Given the description of an element on the screen output the (x, y) to click on. 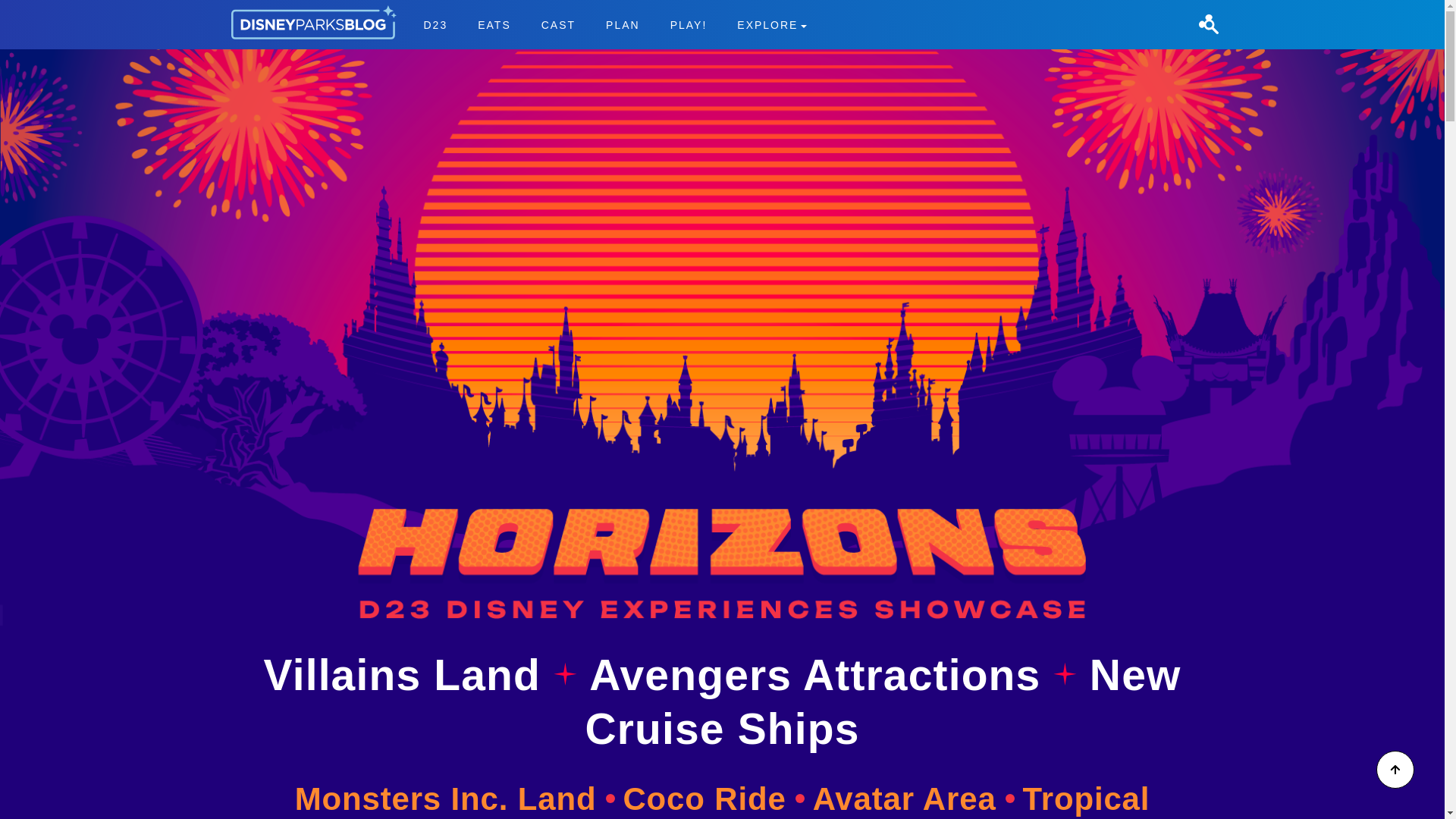
EXPLORE (771, 23)
Tropical Americas (834, 800)
PLAY! (688, 23)
CAST (558, 23)
Avengers Attractions (820, 674)
Skip to content (40, 8)
Avatar Area (913, 798)
D23 (435, 23)
Monsters Inc. Land (454, 798)
EATS (494, 23)
